Given the description of an element on the screen output the (x, y) to click on. 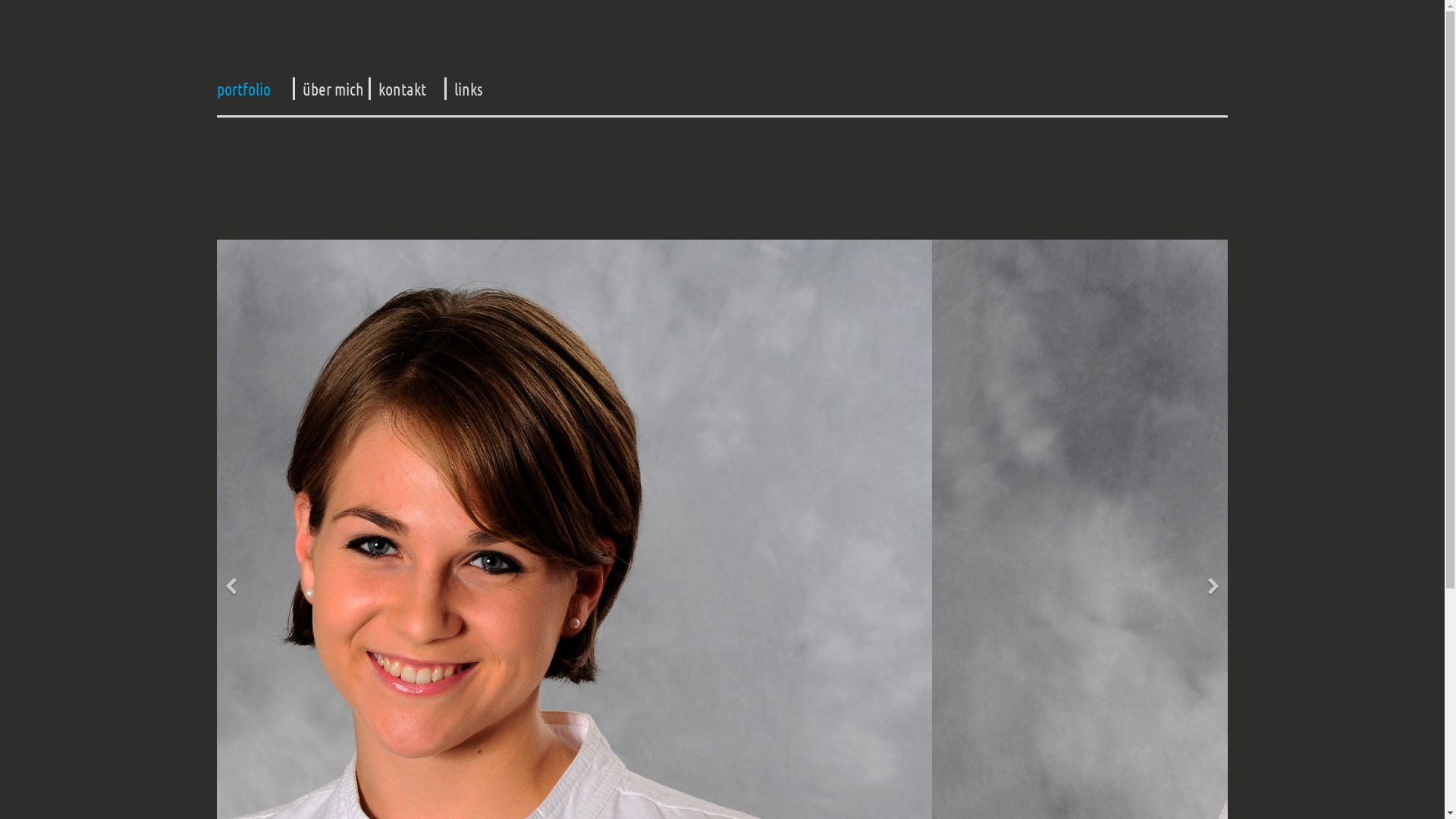
links Element type: text (468, 88)
kontakt Element type: text (402, 88)
portfolio Element type: text (243, 88)
